Given the description of an element on the screen output the (x, y) to click on. 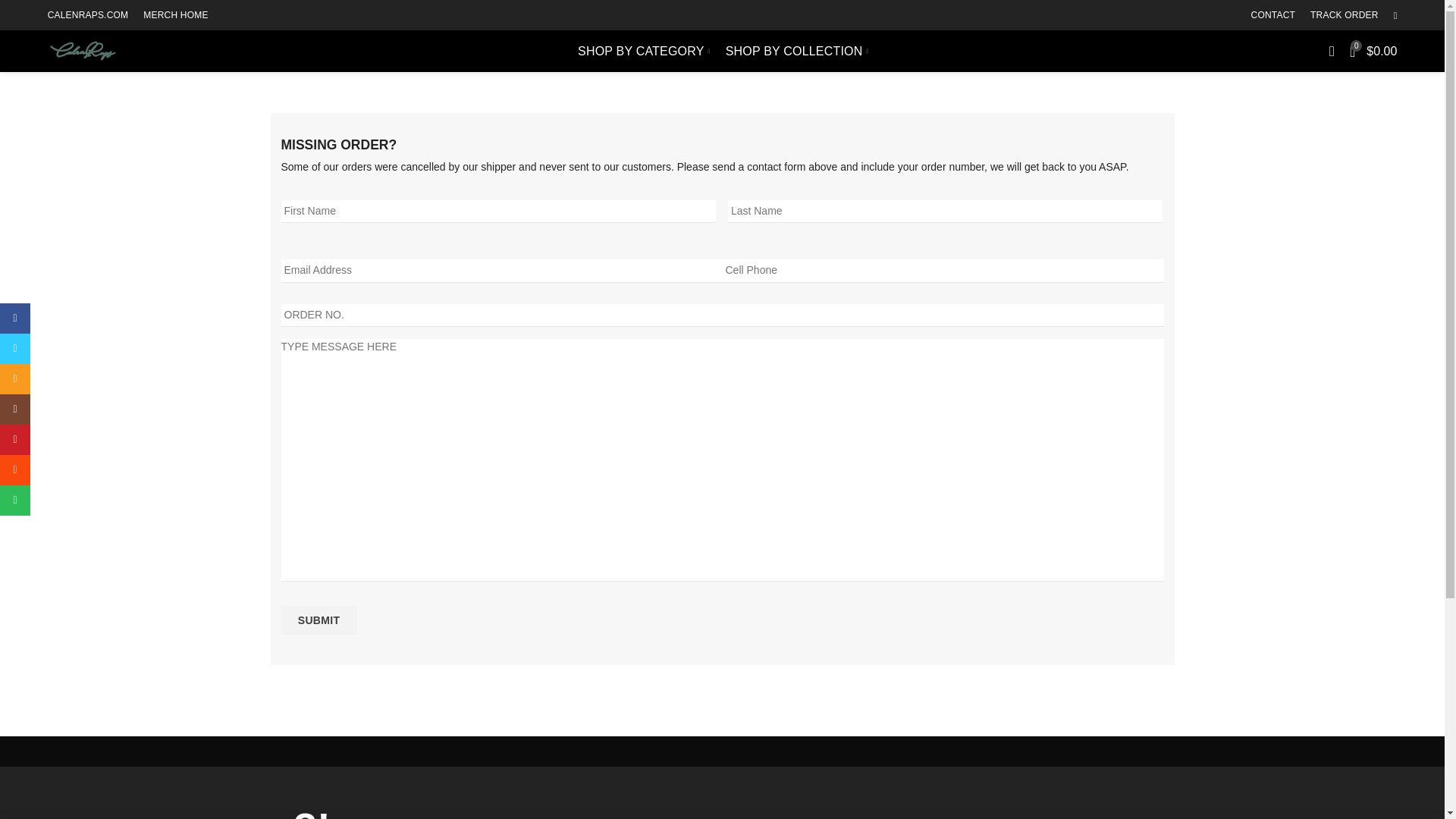
SUBMIT (318, 620)
TRACK ORDER (1344, 15)
CALENRAPS.COM (88, 15)
SHOP BY CATEGORY (643, 51)
SHOP BY COLLECTION (796, 51)
CONTACT (1273, 15)
Shopping cart (1373, 51)
MERCH HOME (175, 15)
SUBMIT (318, 620)
